Given the description of an element on the screen output the (x, y) to click on. 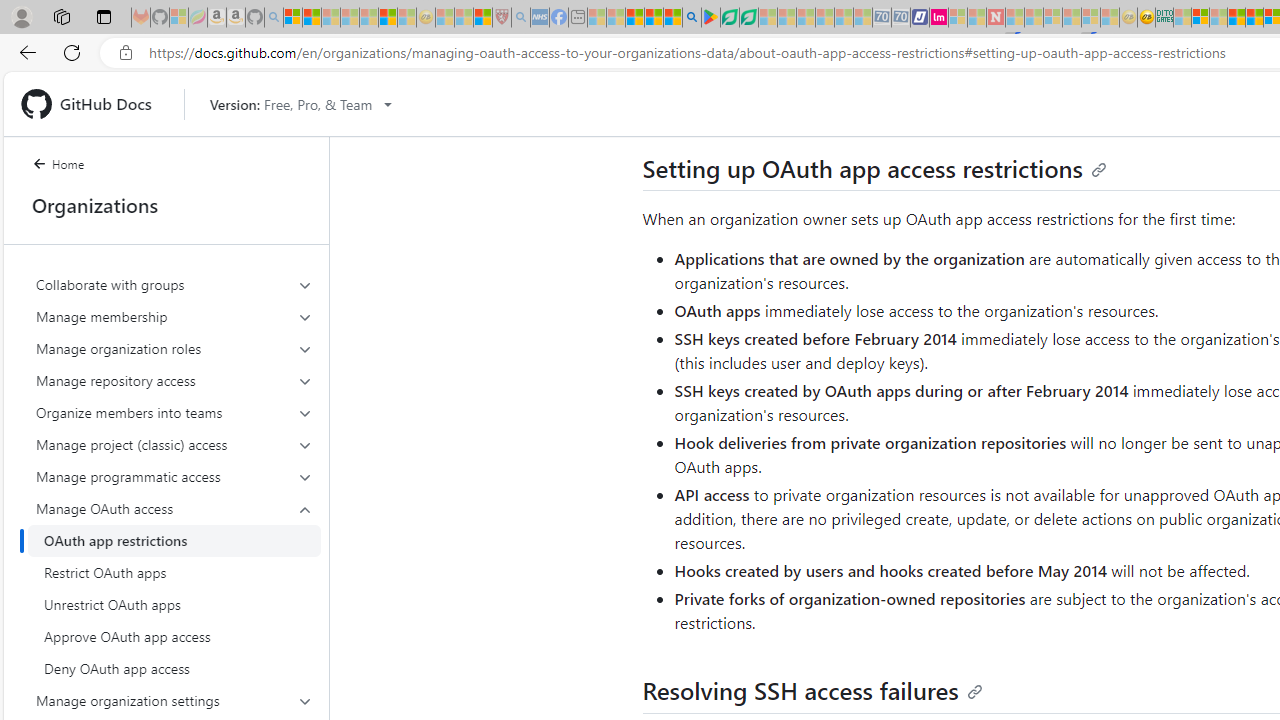
Manage organization roles (174, 348)
Unrestrict OAuth apps (174, 604)
Unrestrict OAuth apps (174, 604)
Jobs - lastminute.com Investor Portal (939, 17)
Manage OAuth access (174, 508)
Manage programmatic access (174, 476)
